Given the description of an element on the screen output the (x, y) to click on. 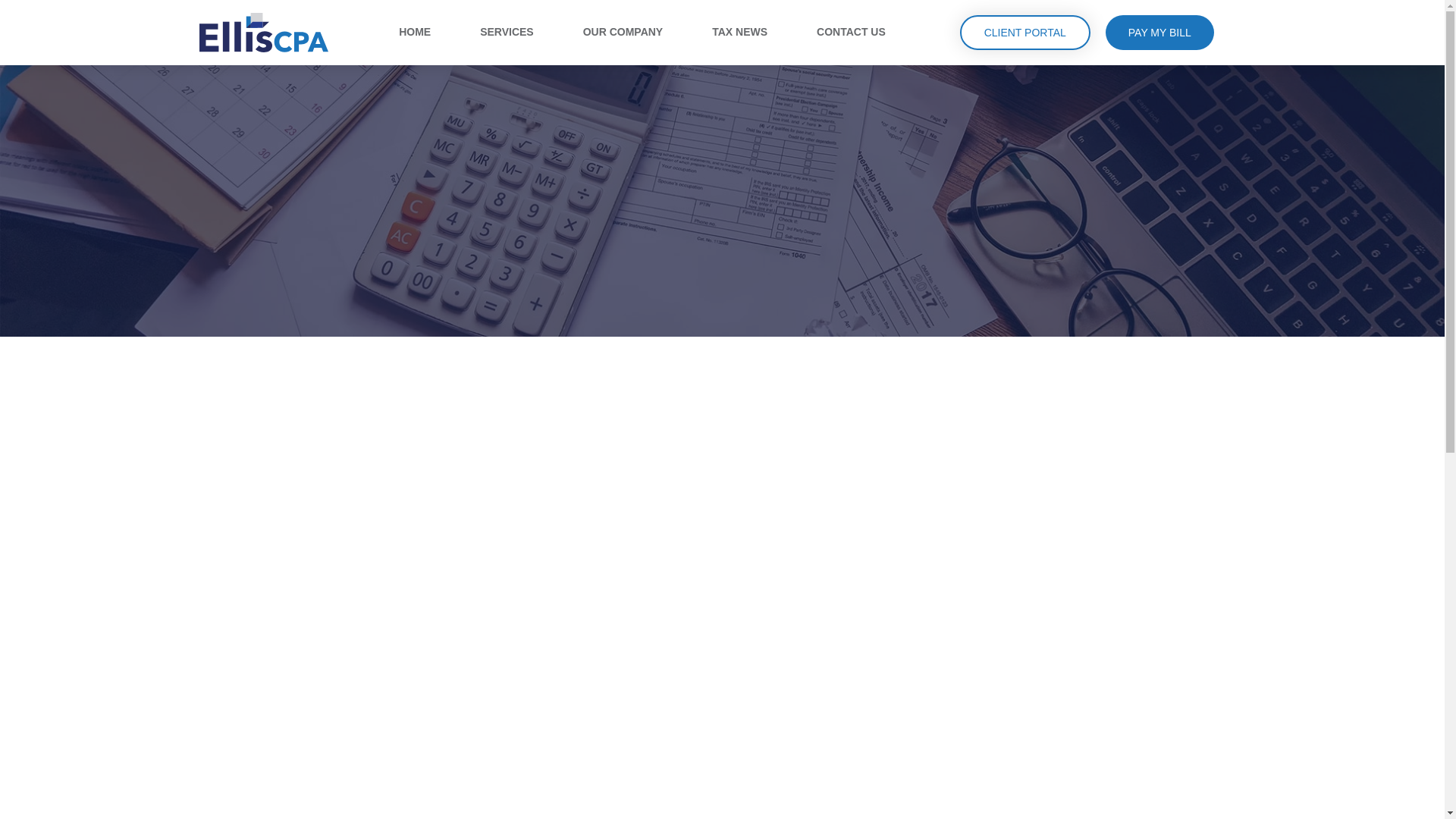
SERVICES (507, 32)
HOME (414, 32)
CONTACT US (850, 32)
CLIENT PORTAL (1024, 32)
OUR COMPANY (623, 32)
PAY MY BILL (1159, 32)
TAX NEWS (739, 32)
